Given the description of an element on the screen output the (x, y) to click on. 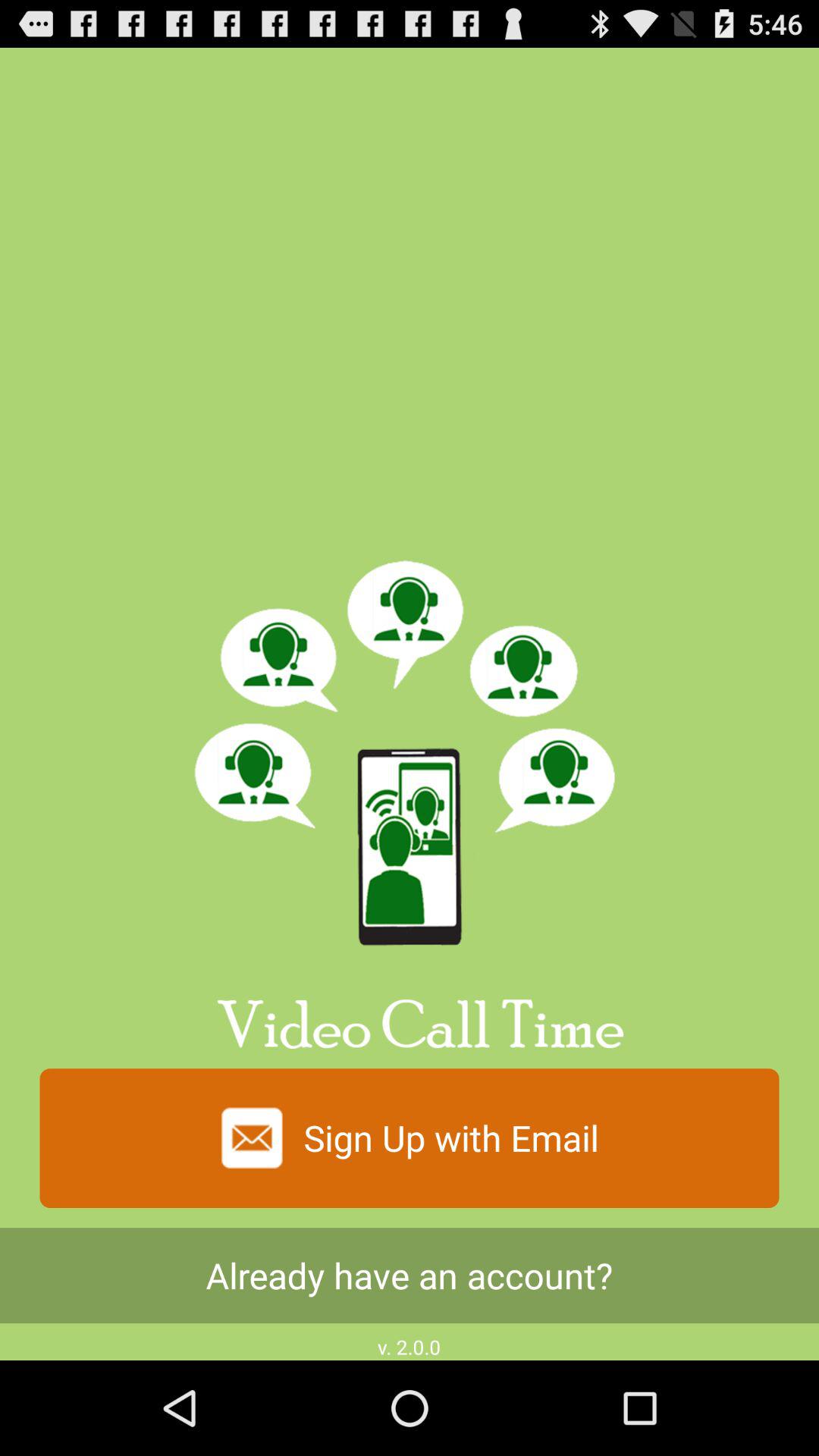
scroll to the already have an icon (409, 1275)
